Given the description of an element on the screen output the (x, y) to click on. 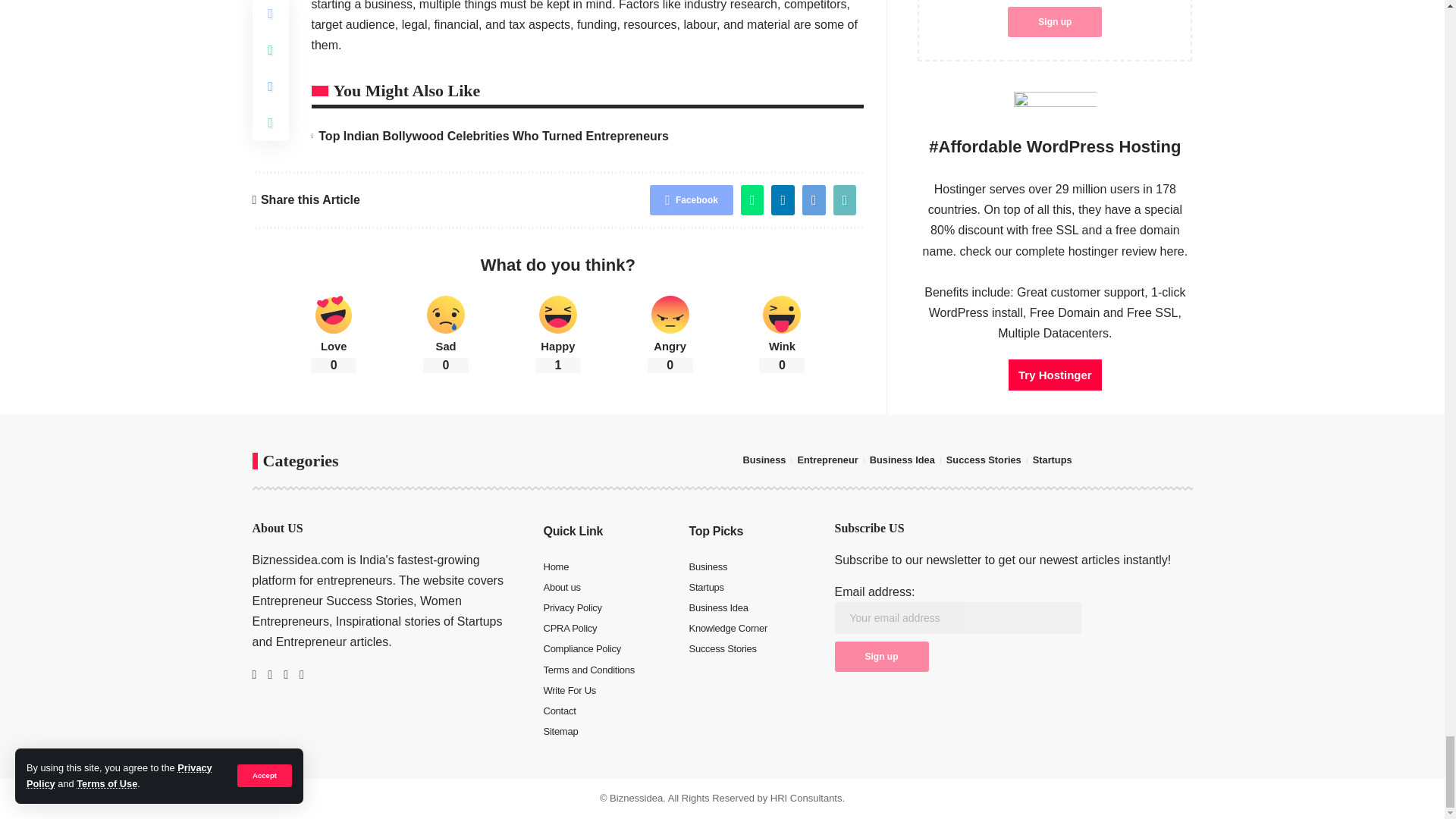
Sign up (881, 656)
